Given the description of an element on the screen output the (x, y) to click on. 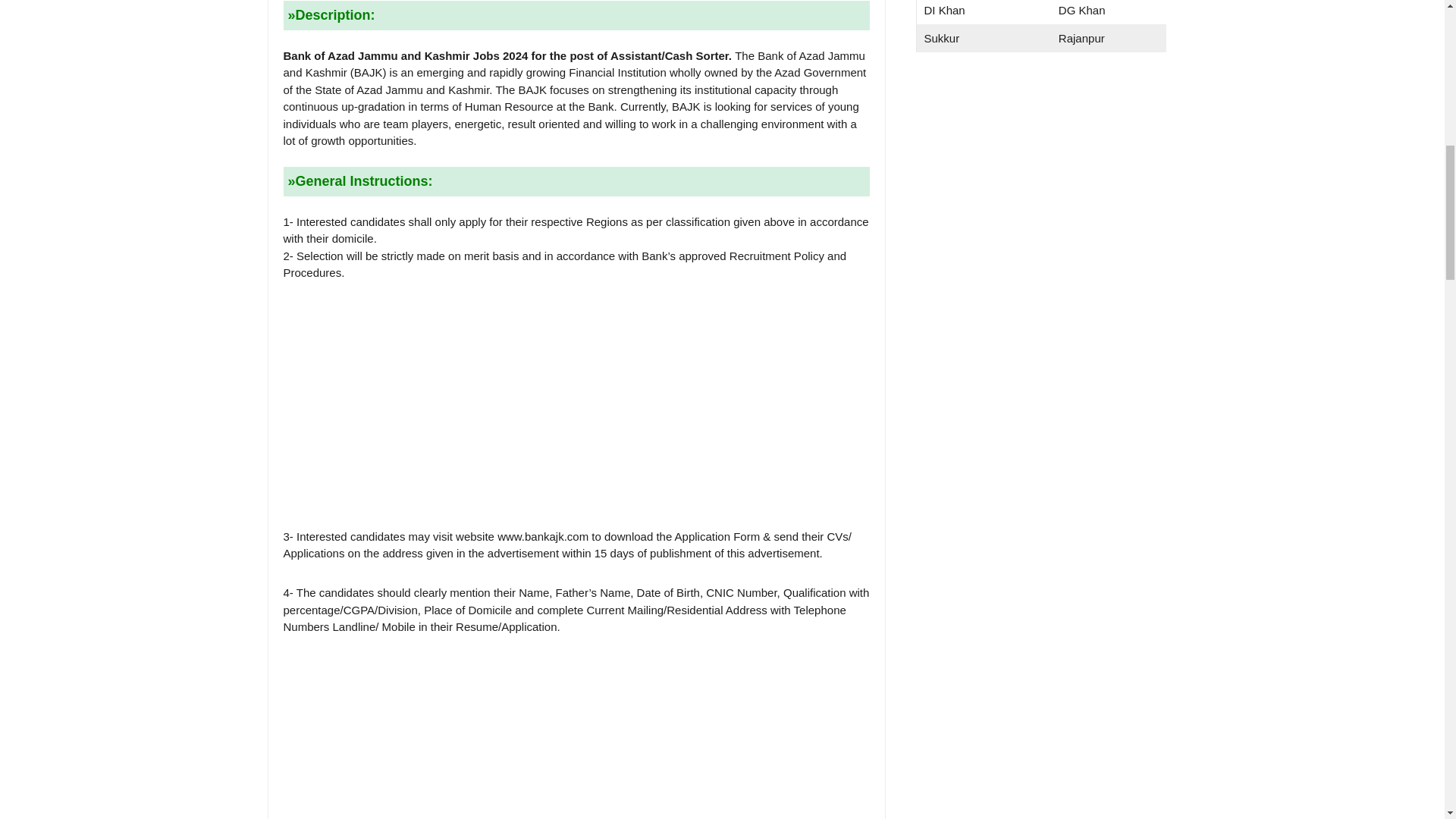
Advertisement (576, 727)
Advertisement (576, 404)
Advertisement (1040, 188)
